Given the description of an element on the screen output the (x, y) to click on. 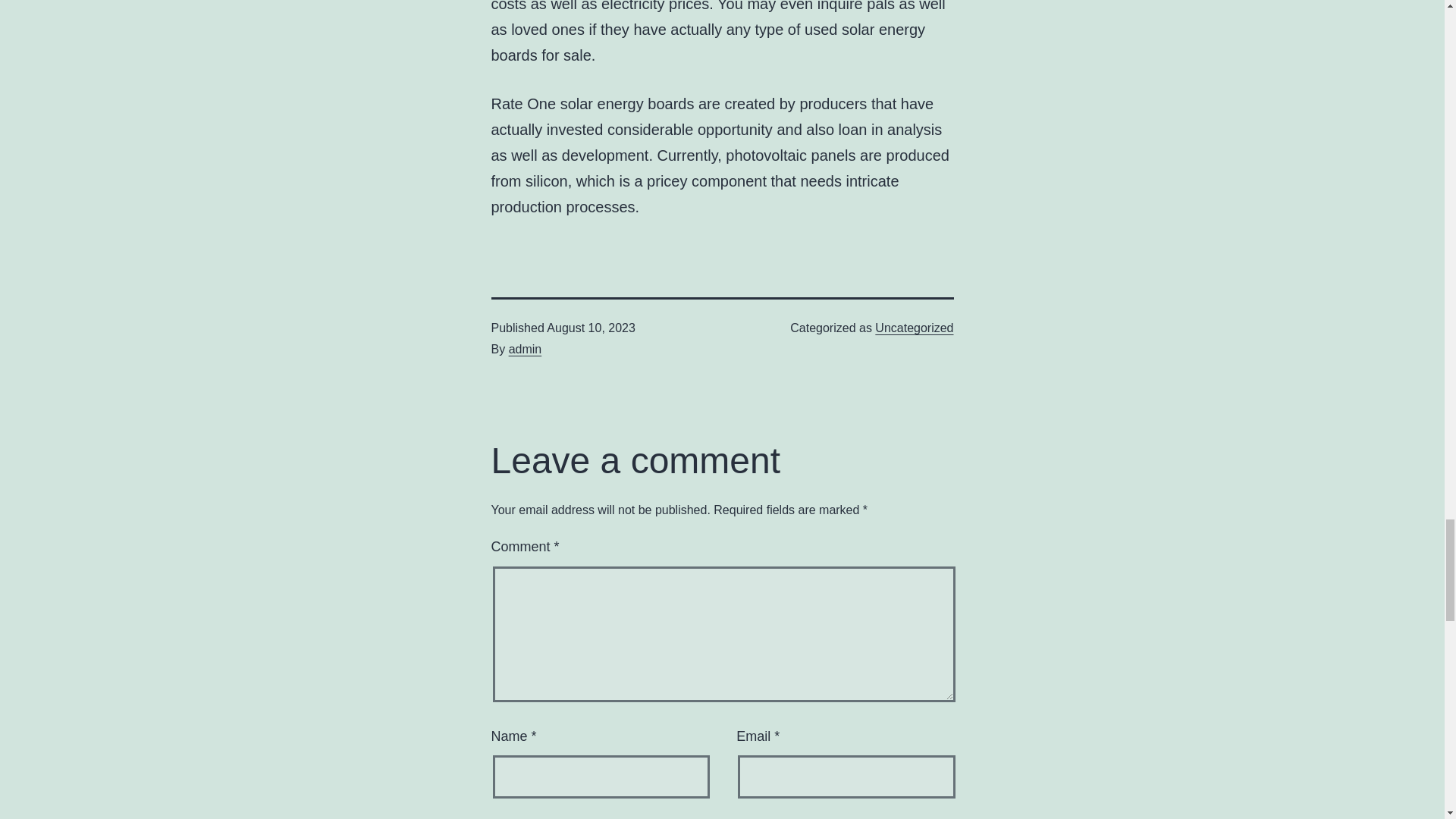
Uncategorized (914, 327)
admin (524, 349)
